Given the description of an element on the screen output the (x, y) to click on. 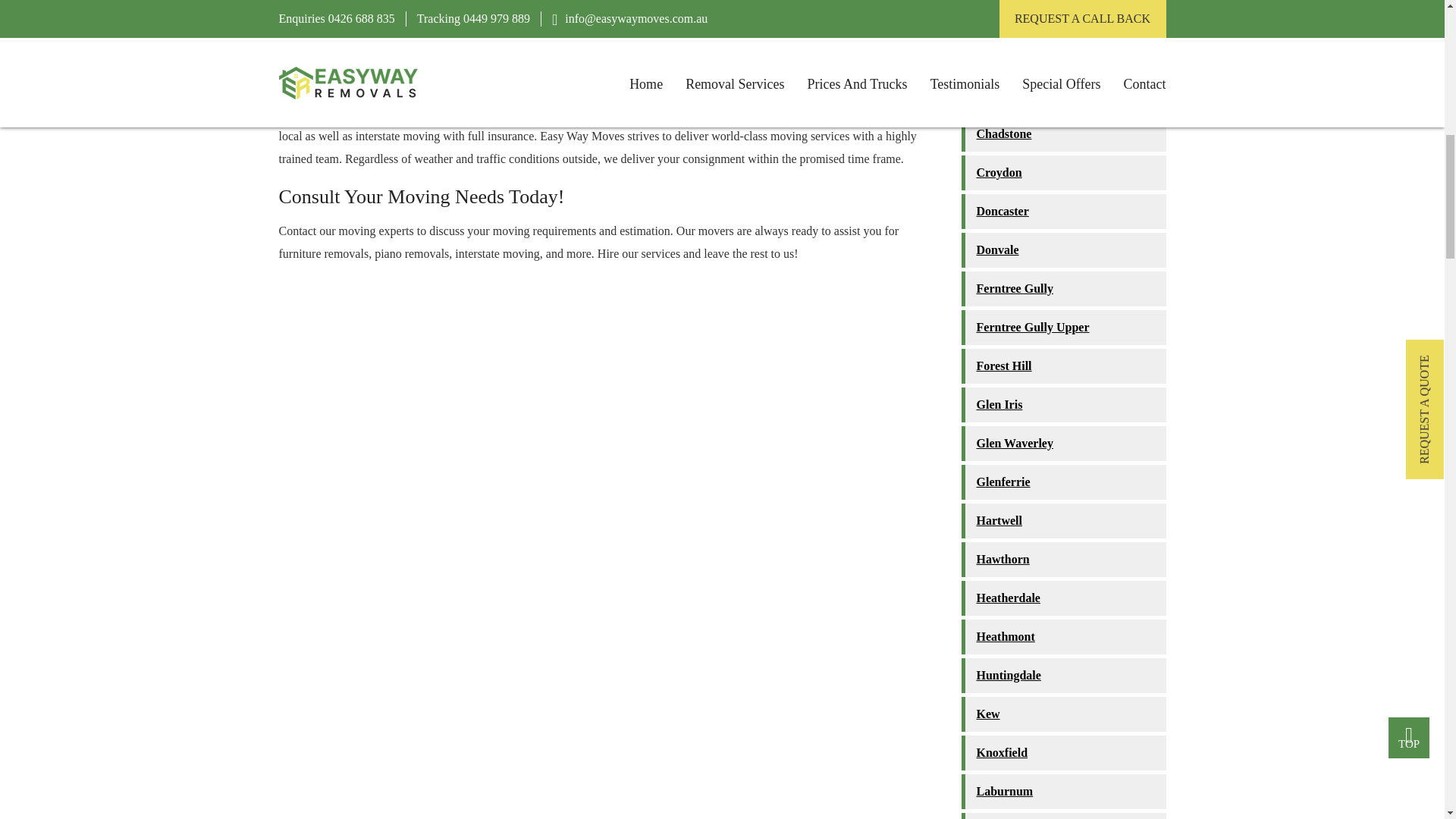
Camberwell (1063, 56)
Canterbury (1063, 95)
Doncaster (1063, 211)
Chadstone (1063, 134)
Burwood (1063, 18)
Croydon (1063, 172)
